Given the description of an element on the screen output the (x, y) to click on. 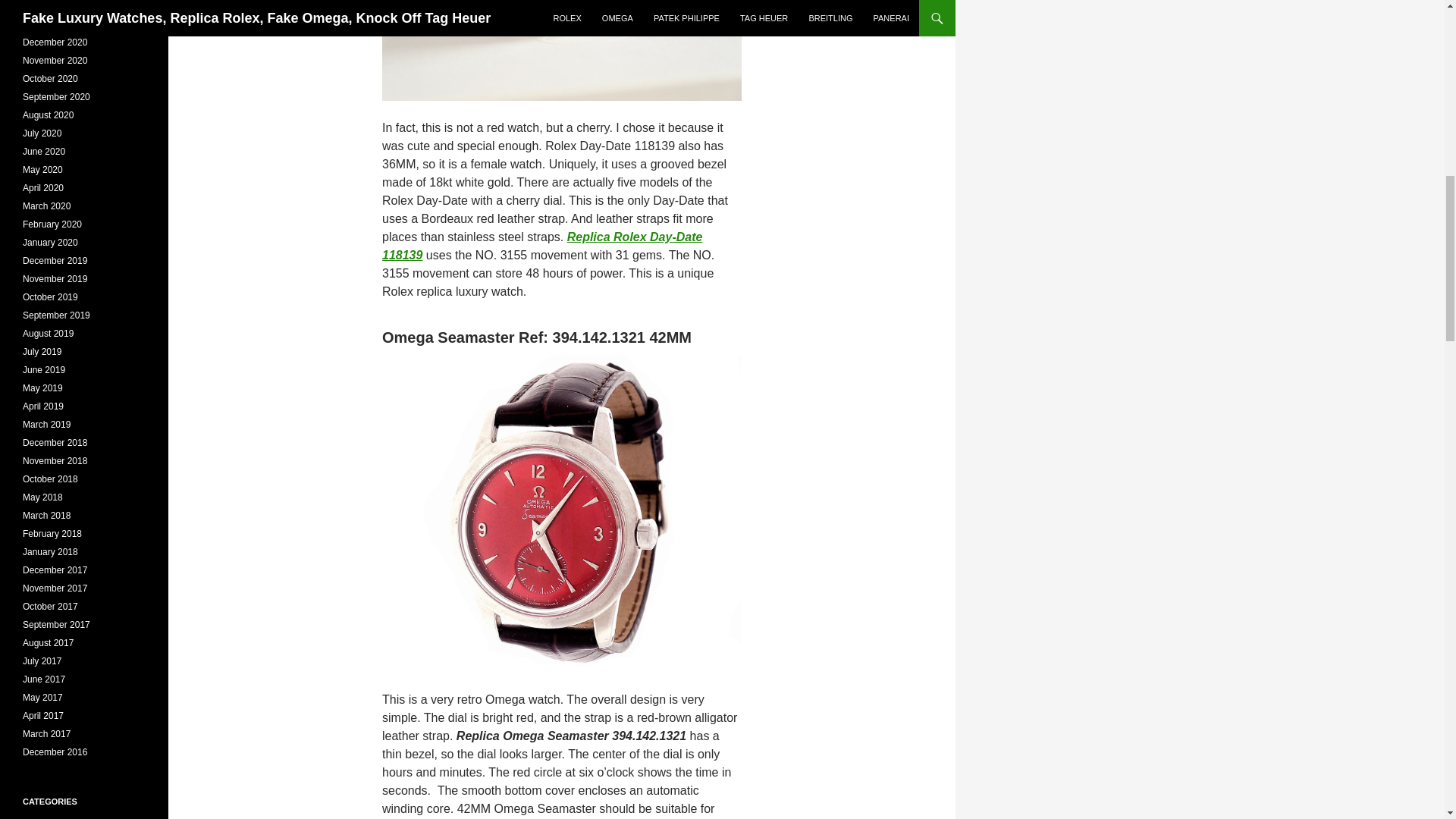
April 2021 (43, 5)
Replica Rolex Day-Date 118139 (541, 245)
March 2021 (46, 23)
